Given the description of an element on the screen output the (x, y) to click on. 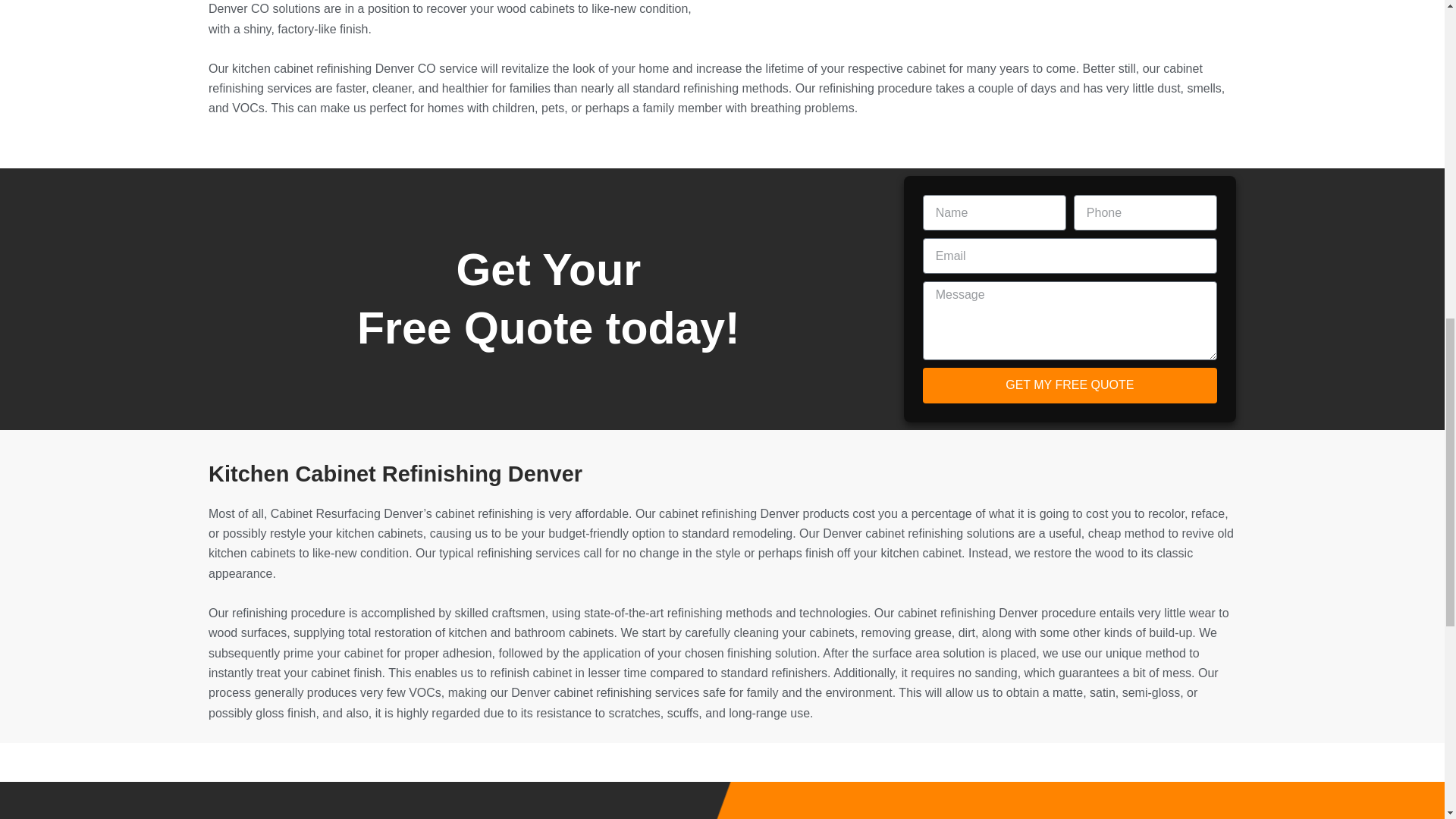
GET MY FREE QUOTE (1070, 385)
